Given the description of an element on the screen output the (x, y) to click on. 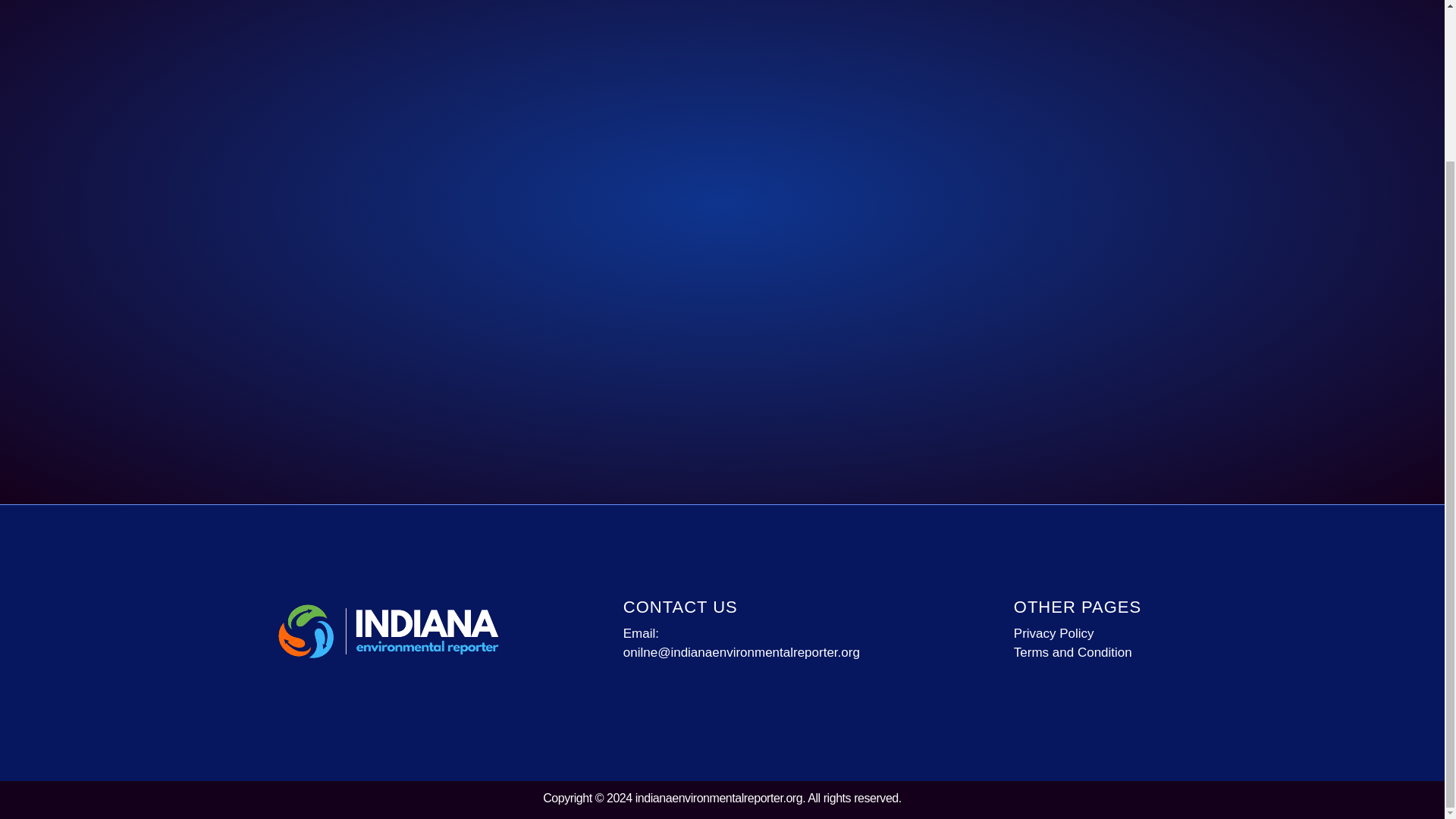
Privacy Policy (1110, 633)
Email: (755, 633)
Terms and Condition (1110, 652)
